Given the description of an element on the screen output the (x, y) to click on. 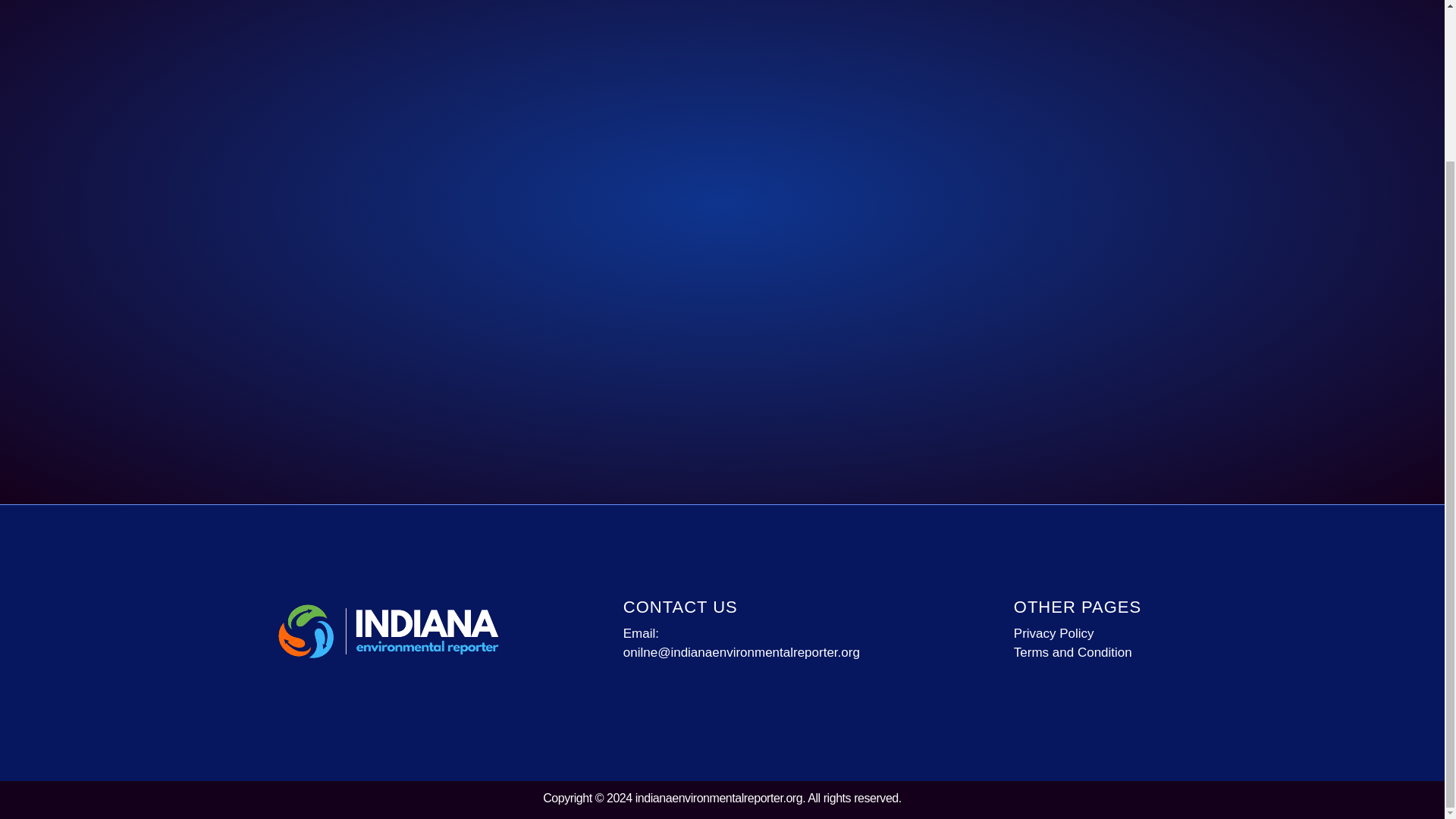
Privacy Policy (1110, 633)
Email: (755, 633)
Terms and Condition (1110, 652)
